Given the description of an element on the screen output the (x, y) to click on. 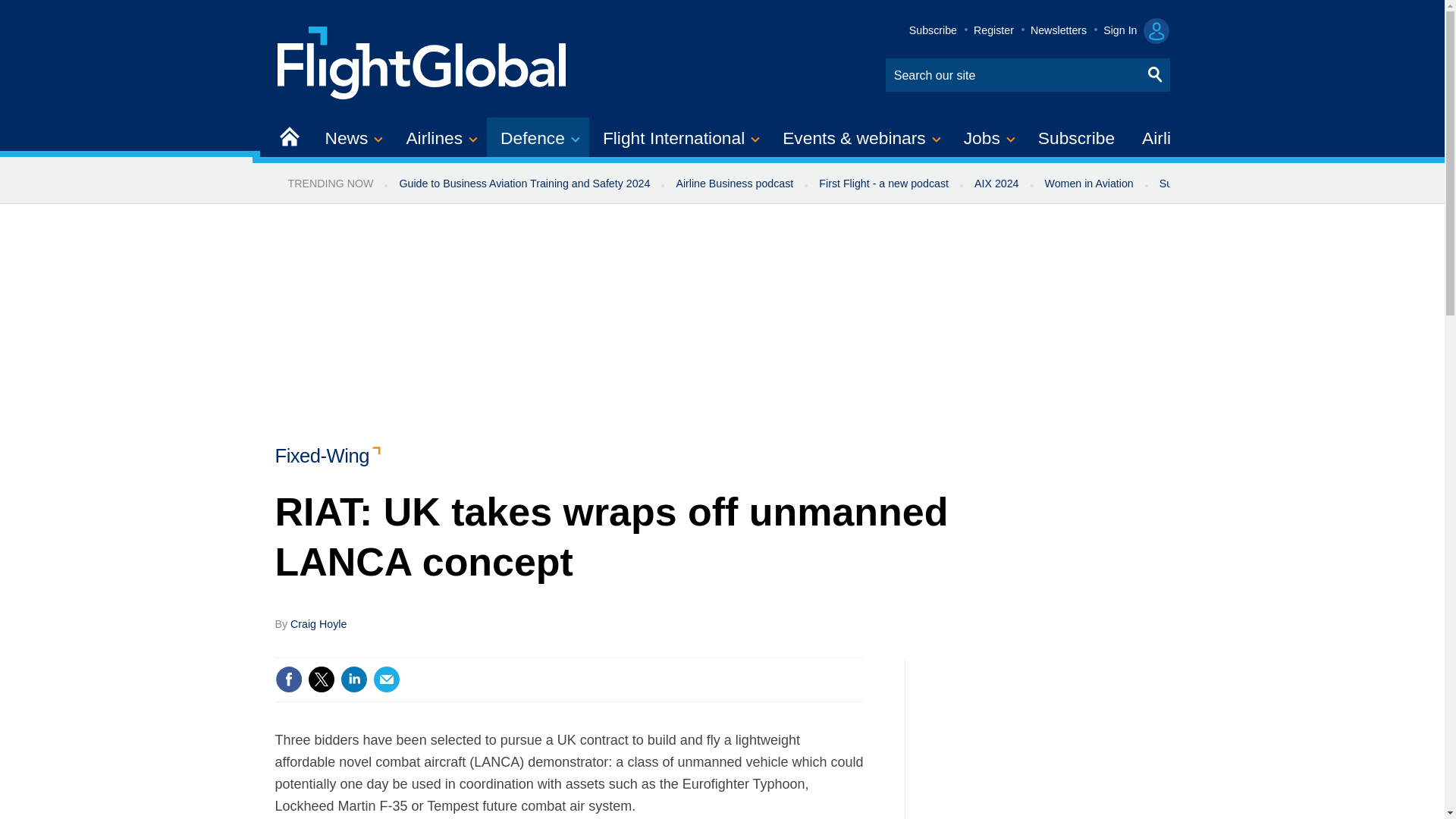
First Flight - a new podcast (883, 183)
AIX 2024 (996, 183)
Women in Aviation (1089, 183)
Share this on Twitter (320, 678)
Airline Business podcast (734, 183)
Guide to Business Aviation Training and Safety 2024 (523, 183)
Share this on Facebook (288, 678)
Site name (422, 60)
Email this article (386, 678)
Share this on Linked in (352, 678)
